Given the description of an element on the screen output the (x, y) to click on. 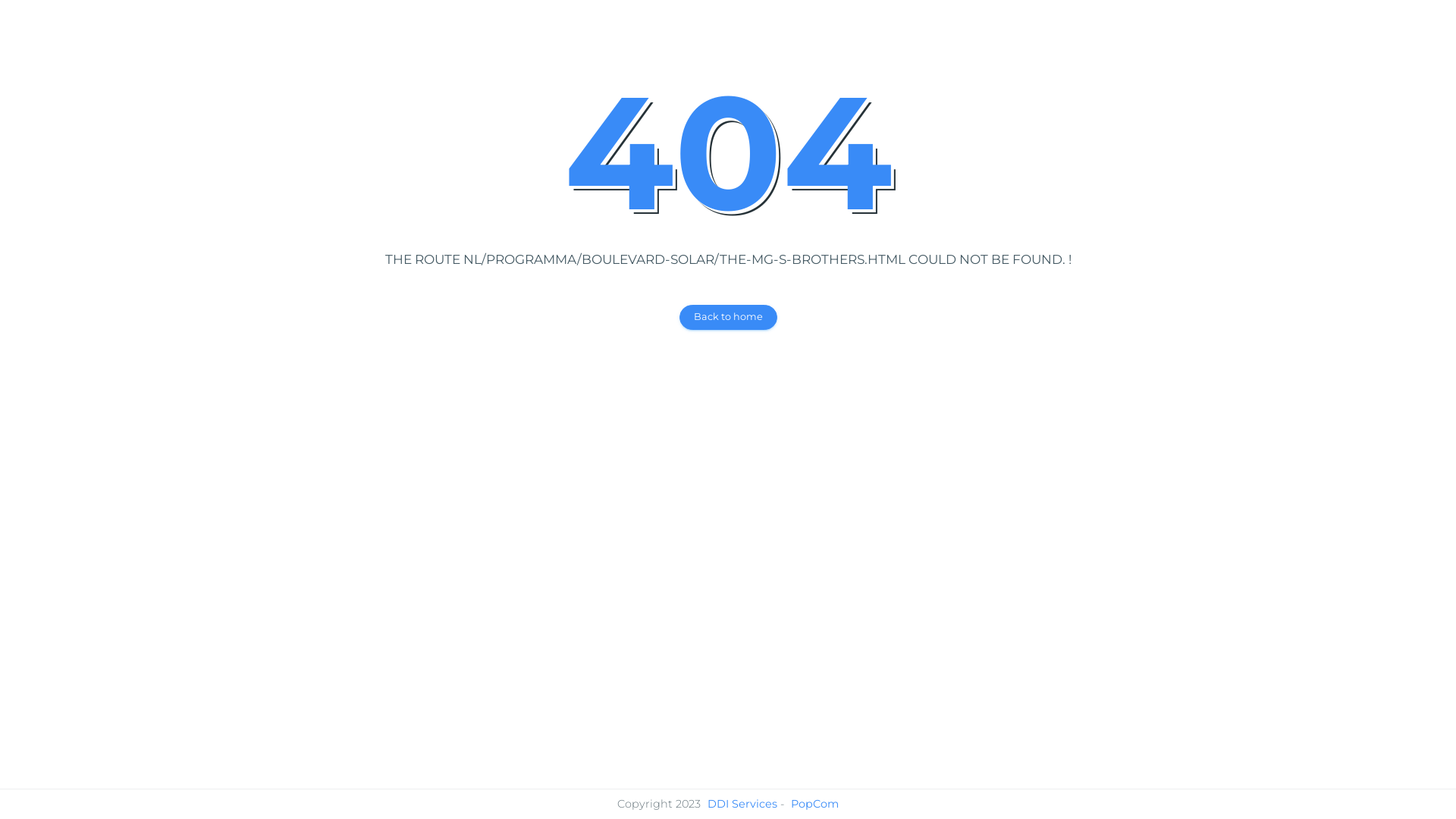
Back to home Element type: text (728, 316)
DDI Services Element type: text (742, 803)
PopCom Element type: text (814, 803)
